Given the description of an element on the screen output the (x, y) to click on. 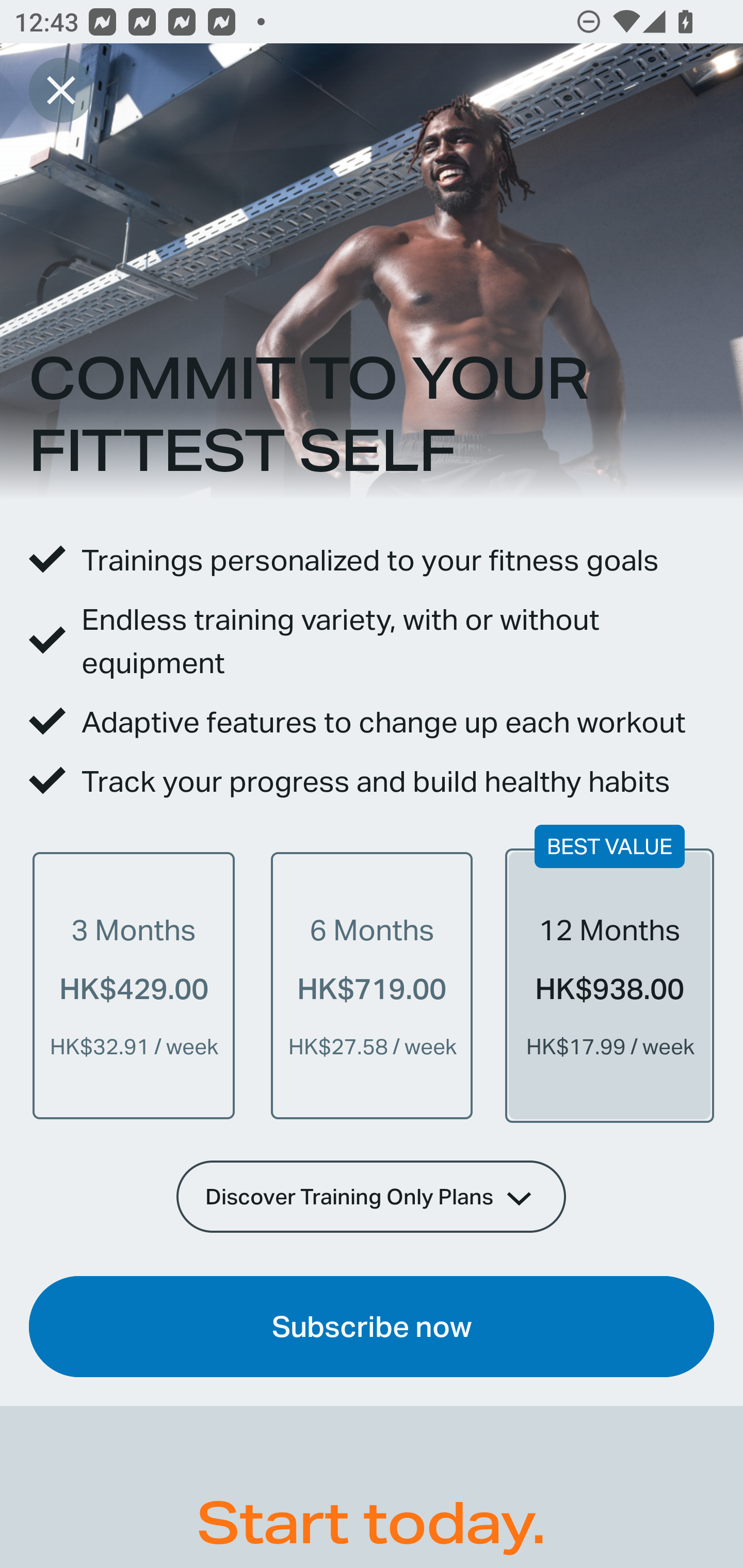
Close (60, 90)
3 Months HK$429.00 HK$32.91 / week (133, 985)
6 Months HK$719.00 HK$27.58 / week (371, 985)
12 Months HK$938.00 HK$17.99 / week (609, 985)
Discover Training Only Plans (371, 1196)
Subscribe now (371, 1326)
